Given the description of an element on the screen output the (x, y) to click on. 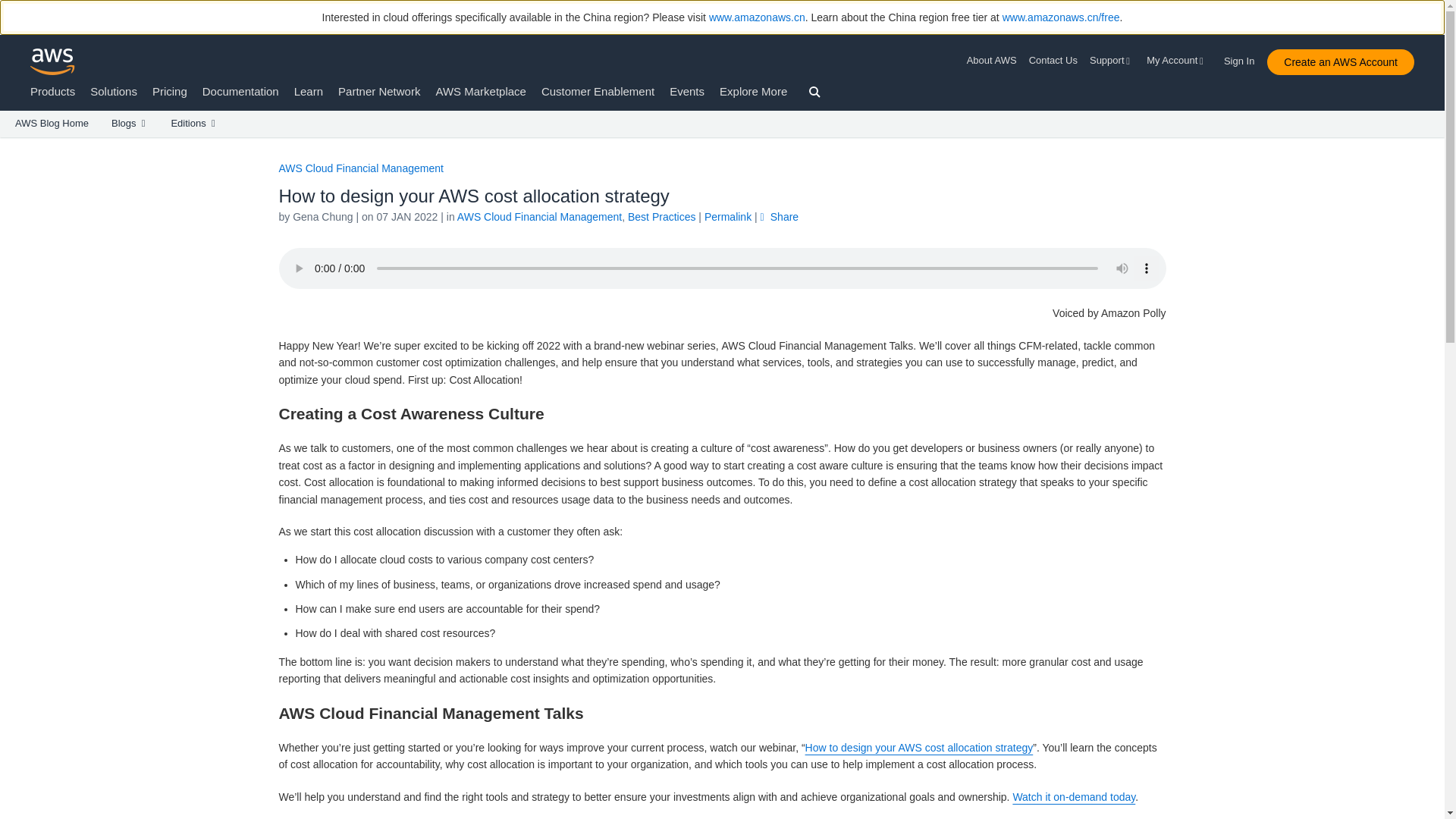
Events (686, 91)
Partner Network (378, 91)
My Account  (1177, 60)
Learn (308, 91)
Solutions (113, 91)
Customer Enablement (597, 91)
Support  (1111, 60)
Skip to Main Content (7, 143)
Products (52, 91)
Documentation (240, 91)
Sign In (1243, 58)
About AWS (994, 60)
AWS Marketplace (480, 91)
Pricing (169, 91)
Contact Us (1053, 60)
